Given the description of an element on the screen output the (x, y) to click on. 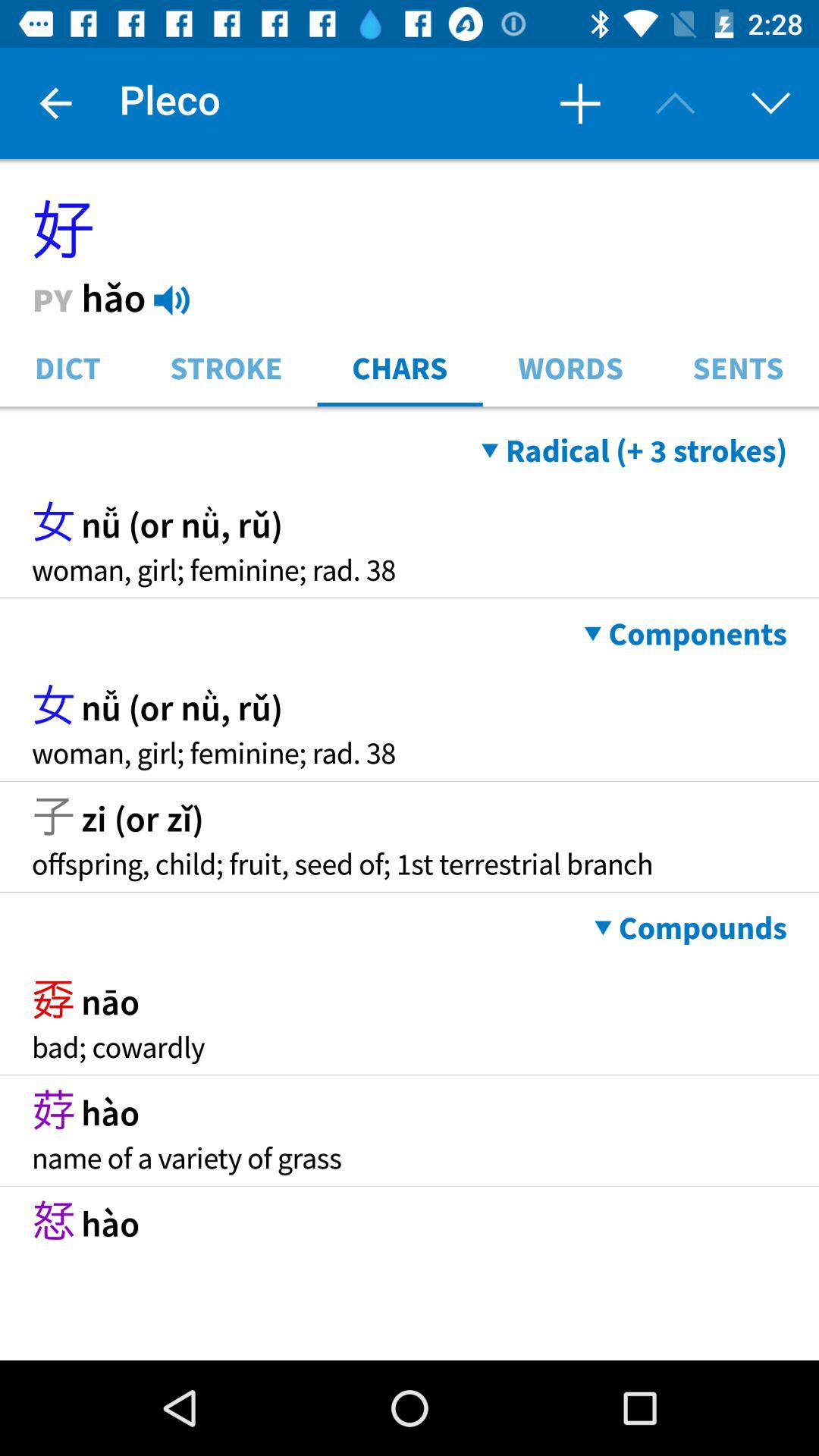
jump until the  radical (+ 3 strokes) icon (634, 450)
